Given the description of an element on the screen output the (x, y) to click on. 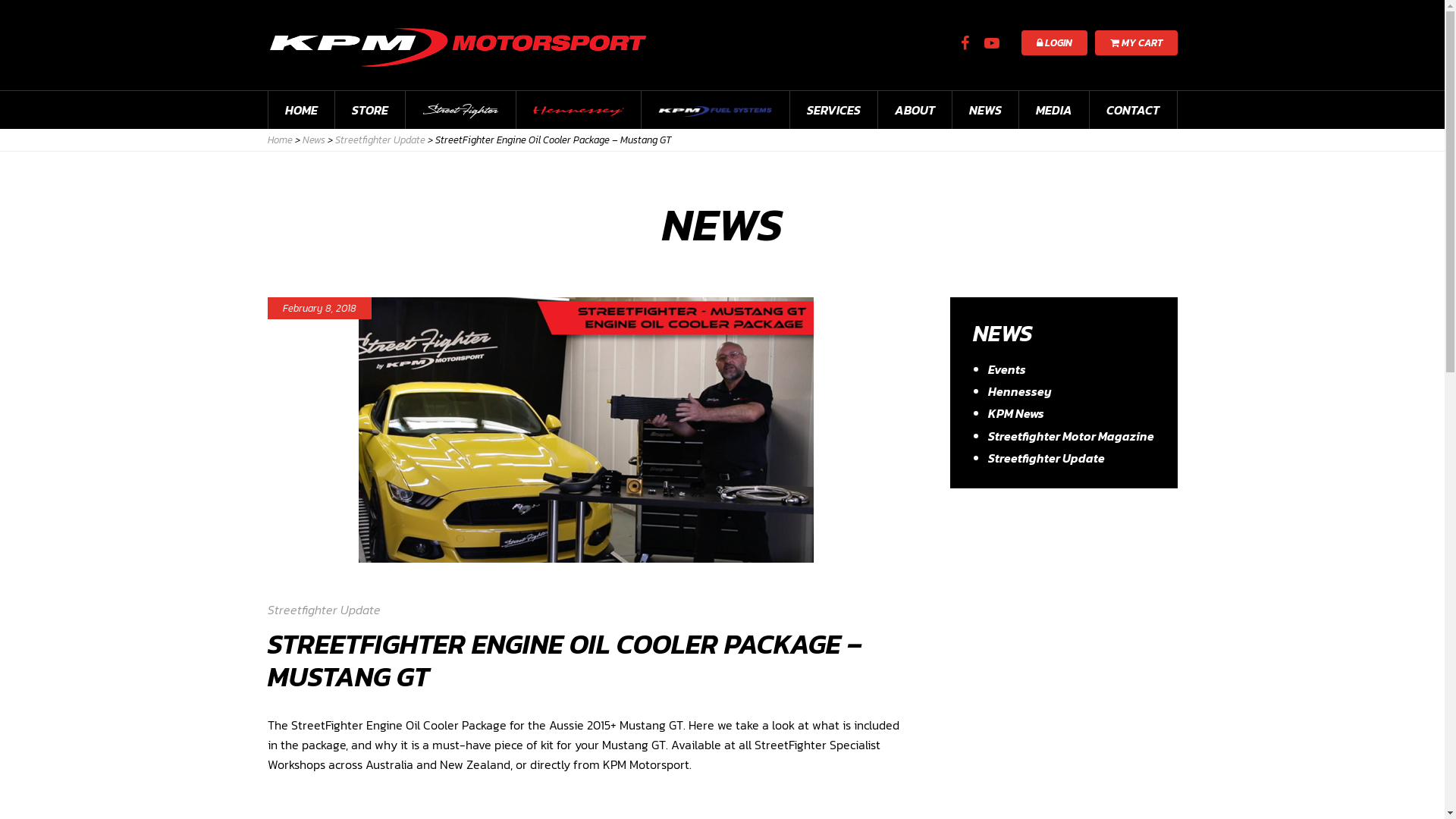
Streetfighter Update Element type: text (1045, 457)
MY CART Element type: text (1136, 42)
Streetfighter Motor Magazine Element type: text (1070, 435)
SERVICES Element type: text (833, 109)
Events Element type: text (1006, 369)
NEWS Element type: text (985, 109)
Streetfighter Update Element type: text (322, 609)
CONTACT Element type: text (1132, 109)
News Element type: text (312, 138)
KPM News Element type: text (1015, 413)
STORE Element type: text (369, 109)
MEDIA Element type: text (1053, 109)
Home Element type: text (278, 138)
Hennessey Element type: text (1019, 391)
HOME Element type: text (301, 109)
ABOUT Element type: text (914, 109)
Streetfighter Update Element type: text (380, 138)
LOGIN Element type: text (1053, 42)
